Given the description of an element on the screen output the (x, y) to click on. 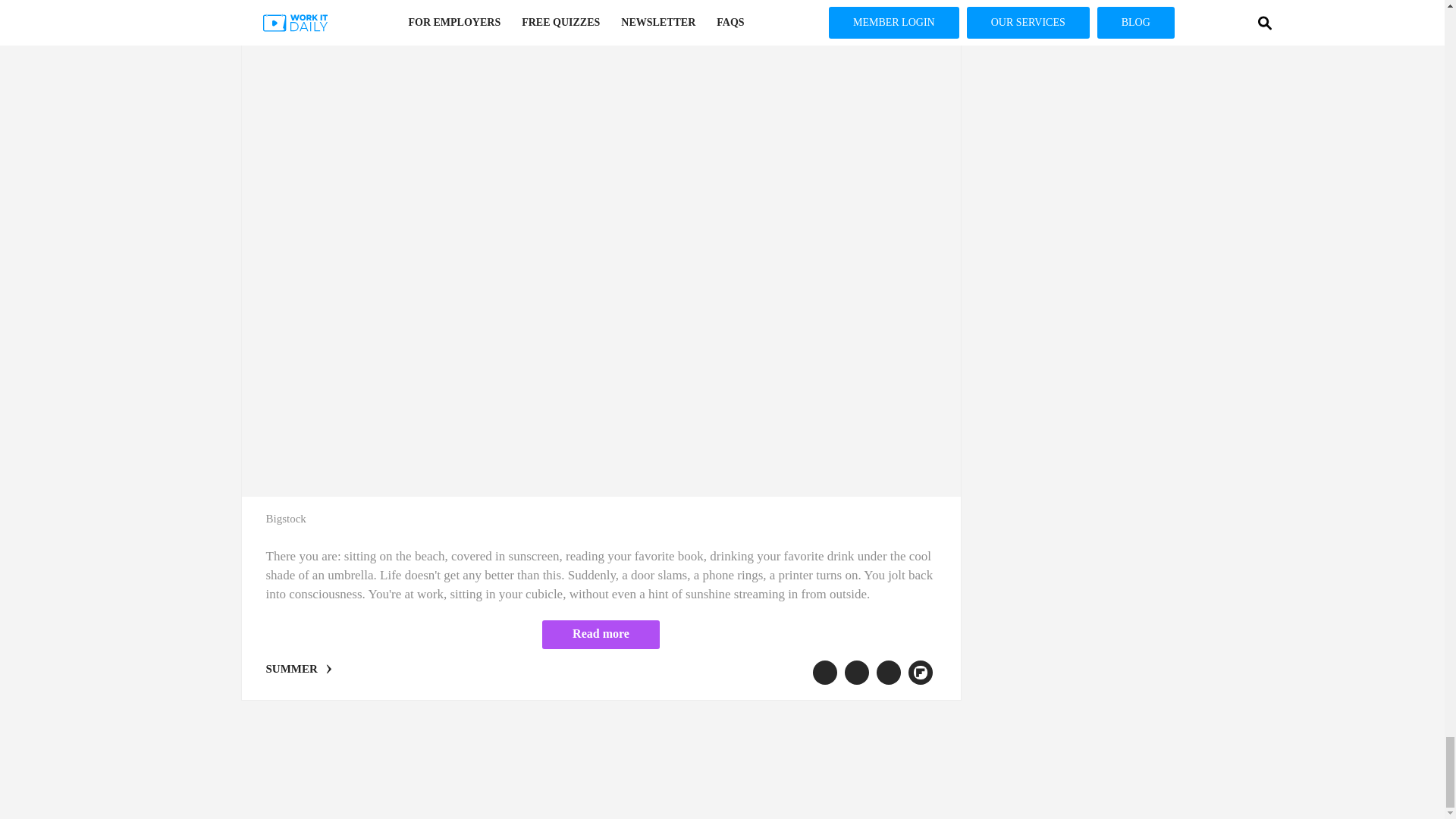
Ariella Coombs (300, 5)
Jenna Arcand (366, 5)
